Given the description of an element on the screen output the (x, y) to click on. 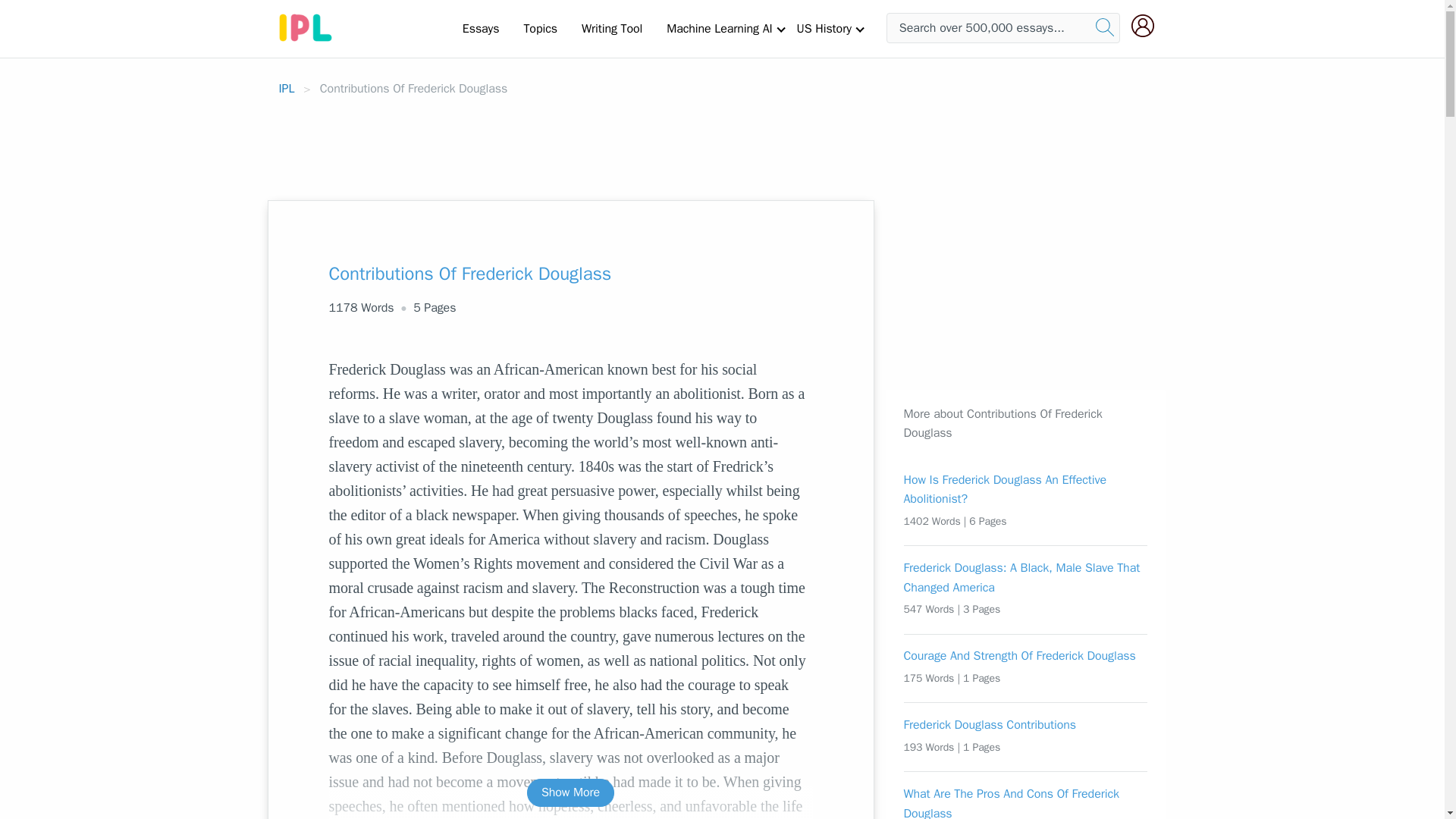
Machine Learning AI (718, 28)
Show More (570, 792)
IPL (287, 88)
Topics (540, 28)
Writing Tool (611, 28)
Essays (480, 28)
US History (823, 28)
